Given the description of an element on the screen output the (x, y) to click on. 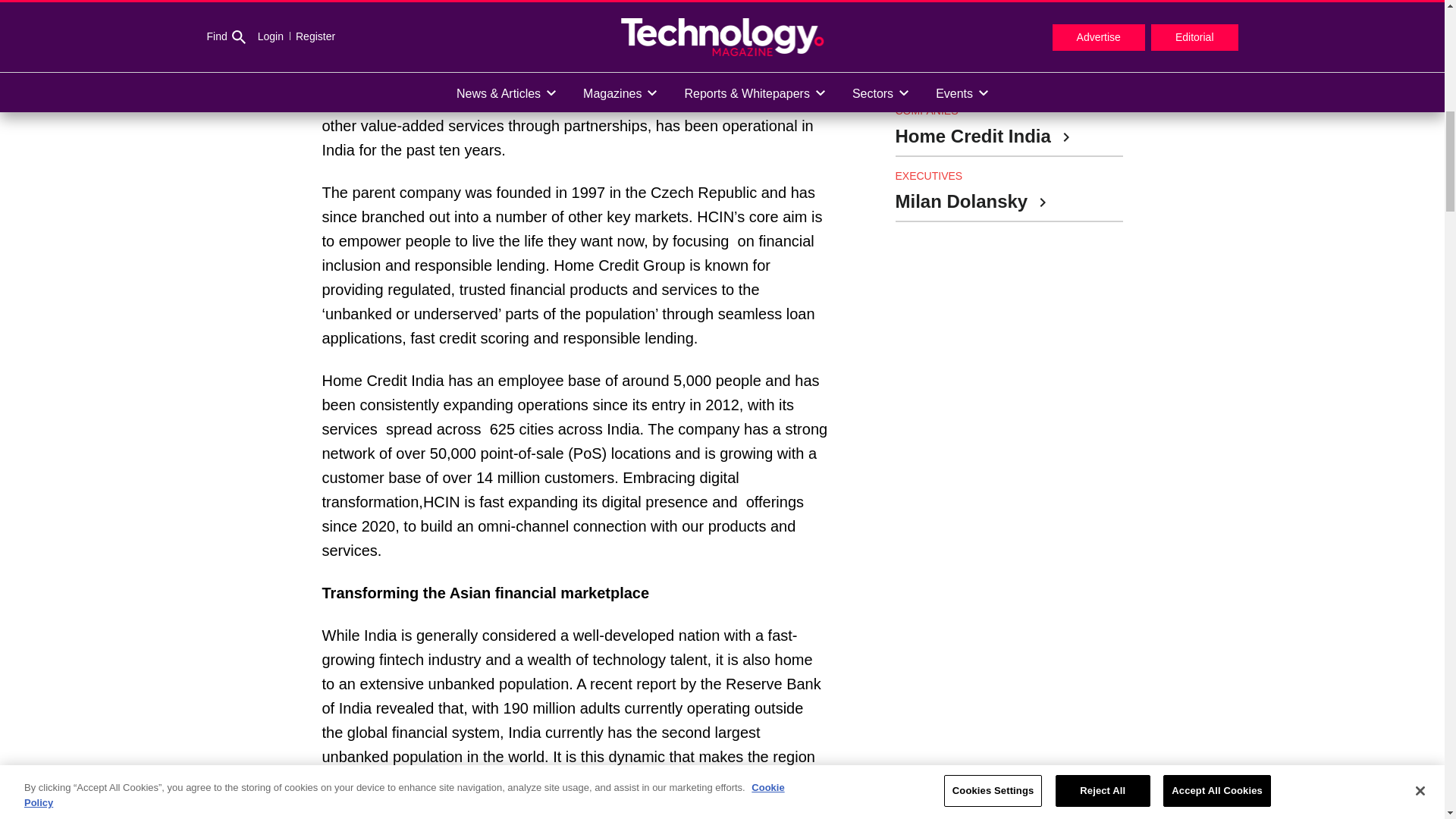
3rd party ad content (1008, 771)
